Given the description of an element on the screen output the (x, y) to click on. 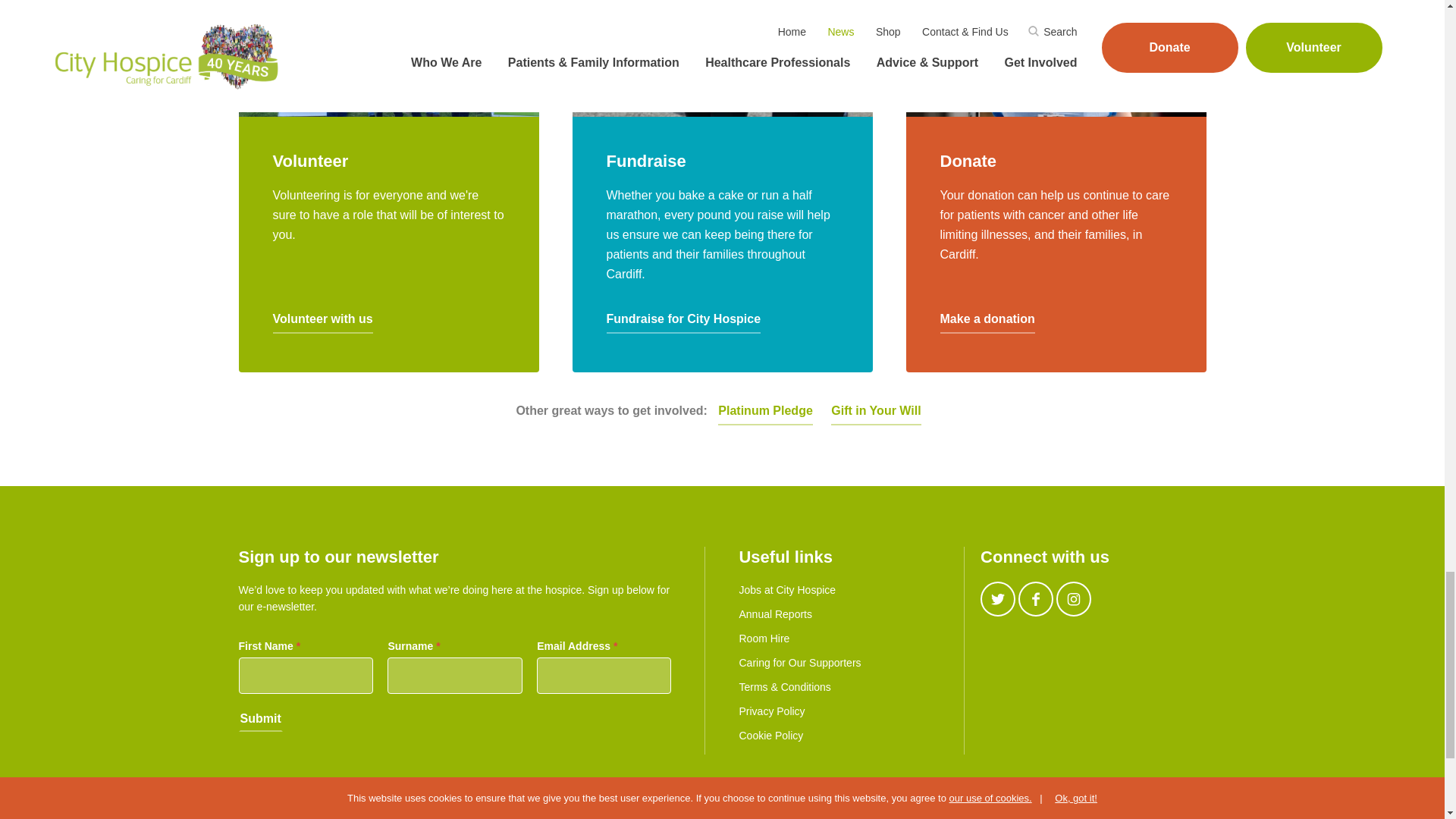
Volunteer with us (322, 321)
Submit (260, 720)
Fundraise for City Hospice (684, 321)
